Given the description of an element on the screen output the (x, y) to click on. 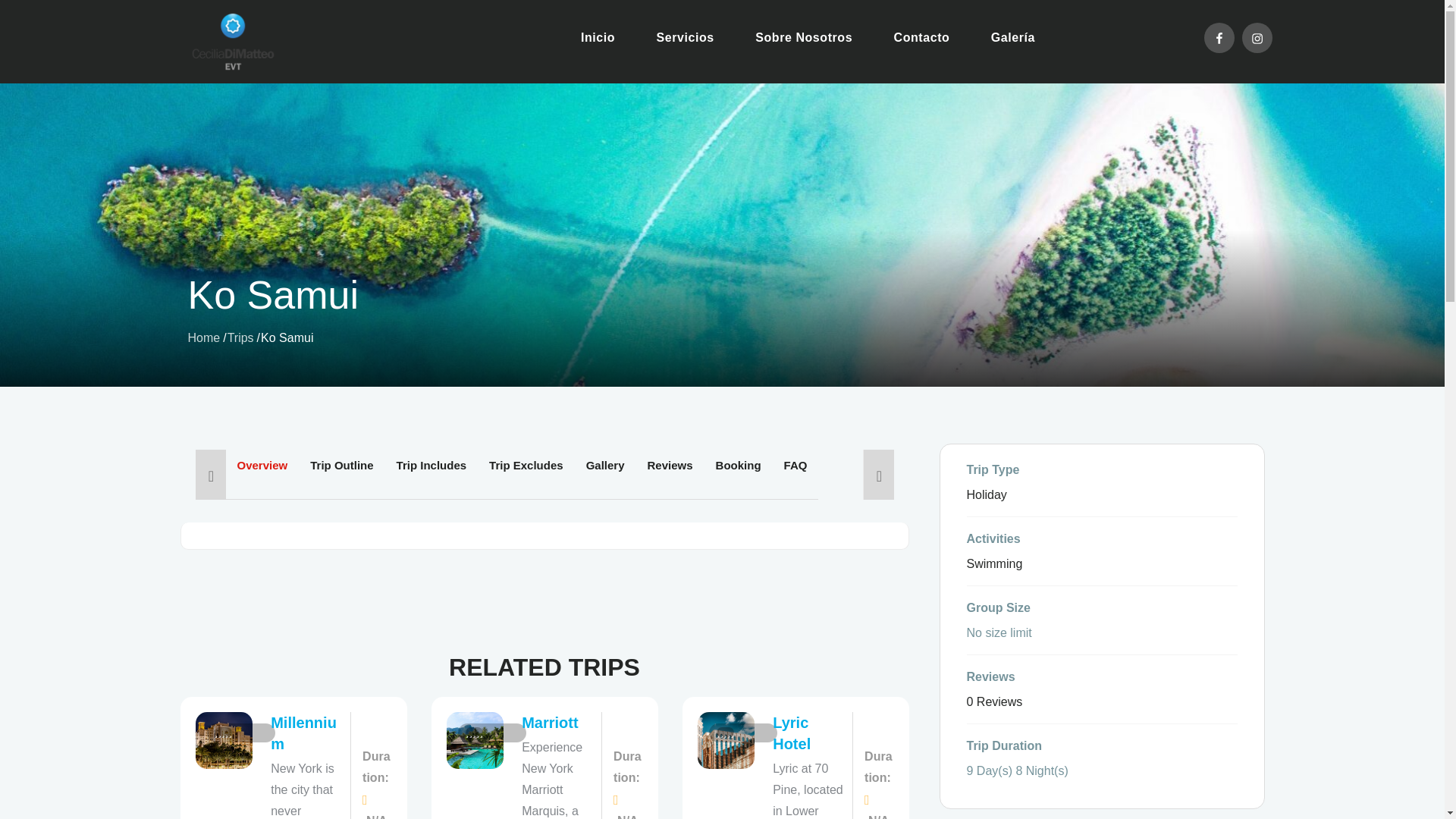
Millennium (303, 733)
Trips (240, 337)
Rated 0 out of 5 (243, 732)
Sobre Nosotros (803, 38)
Rated 0 out of 5 (745, 732)
Marriott (549, 722)
facebook (1219, 37)
instagram (1256, 37)
Permalink to: Marriott (549, 722)
Permalink to: Lyric Hotel (791, 733)
